Given the description of an element on the screen output the (x, y) to click on. 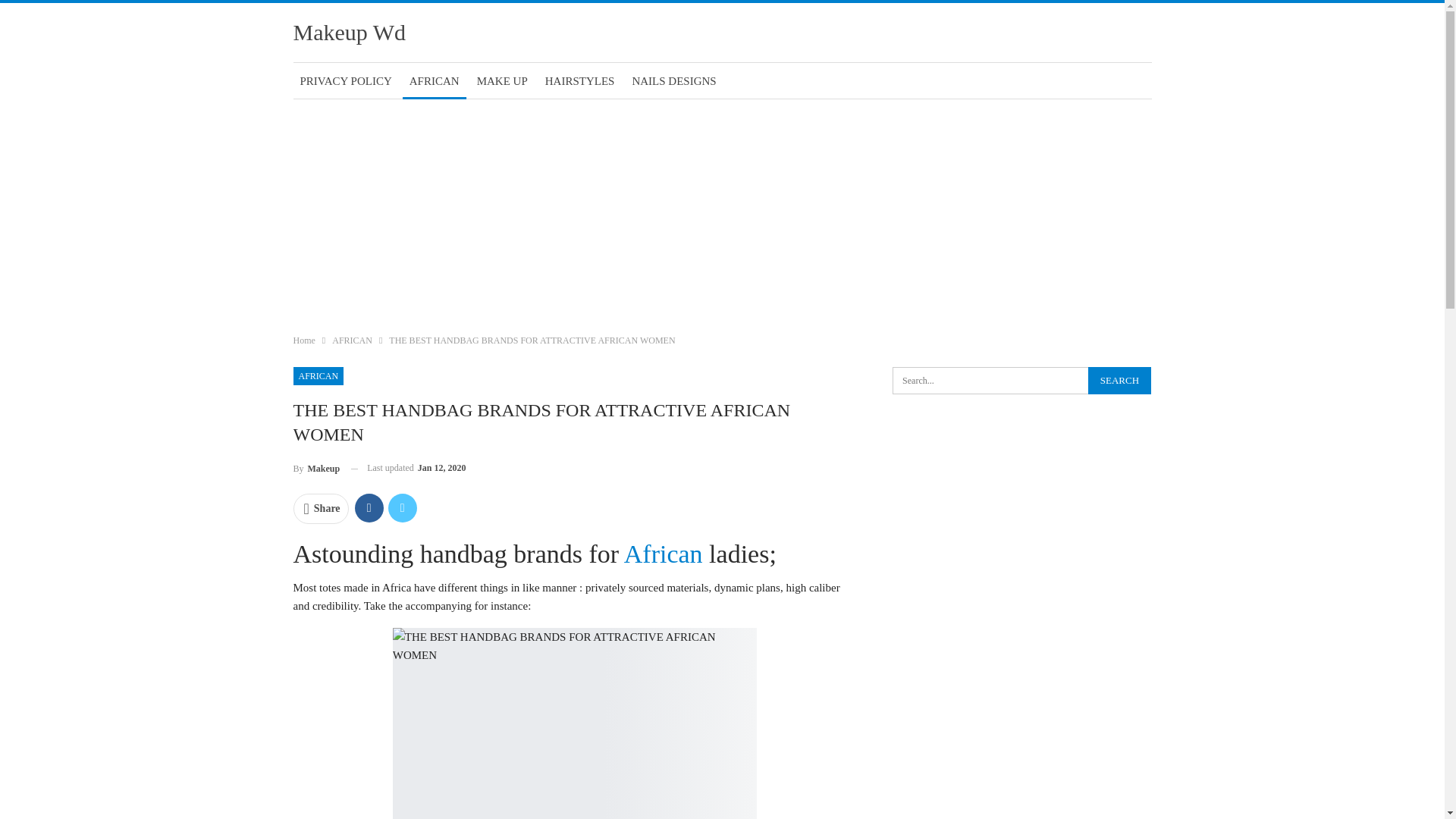
AFRICAN (434, 81)
Browse Author Articles (315, 467)
By Makeup (315, 467)
AFRICAN (317, 375)
PRIVACY POLICY (344, 81)
African (663, 553)
Search (1119, 379)
HAIRSTYLES (579, 81)
Makeup Wd (349, 32)
Search (1119, 379)
Search for: (1021, 379)
MAKE UP (502, 81)
NAILS DESIGNS (673, 81)
Search (1119, 379)
